Given the description of an element on the screen output the (x, y) to click on. 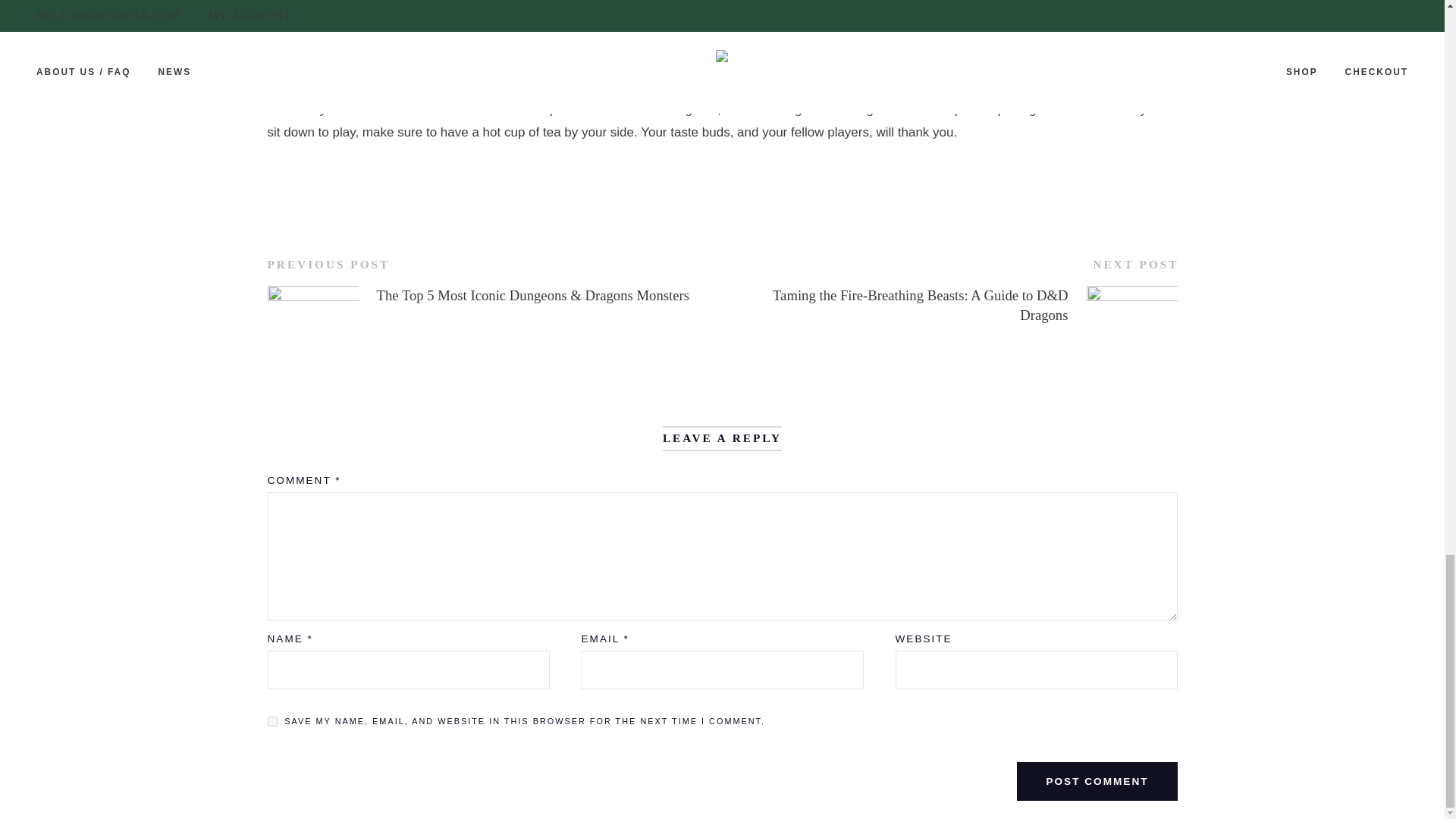
Post Comment (1096, 781)
Post Comment (1096, 781)
yes (271, 721)
